Given the description of an element on the screen output the (x, y) to click on. 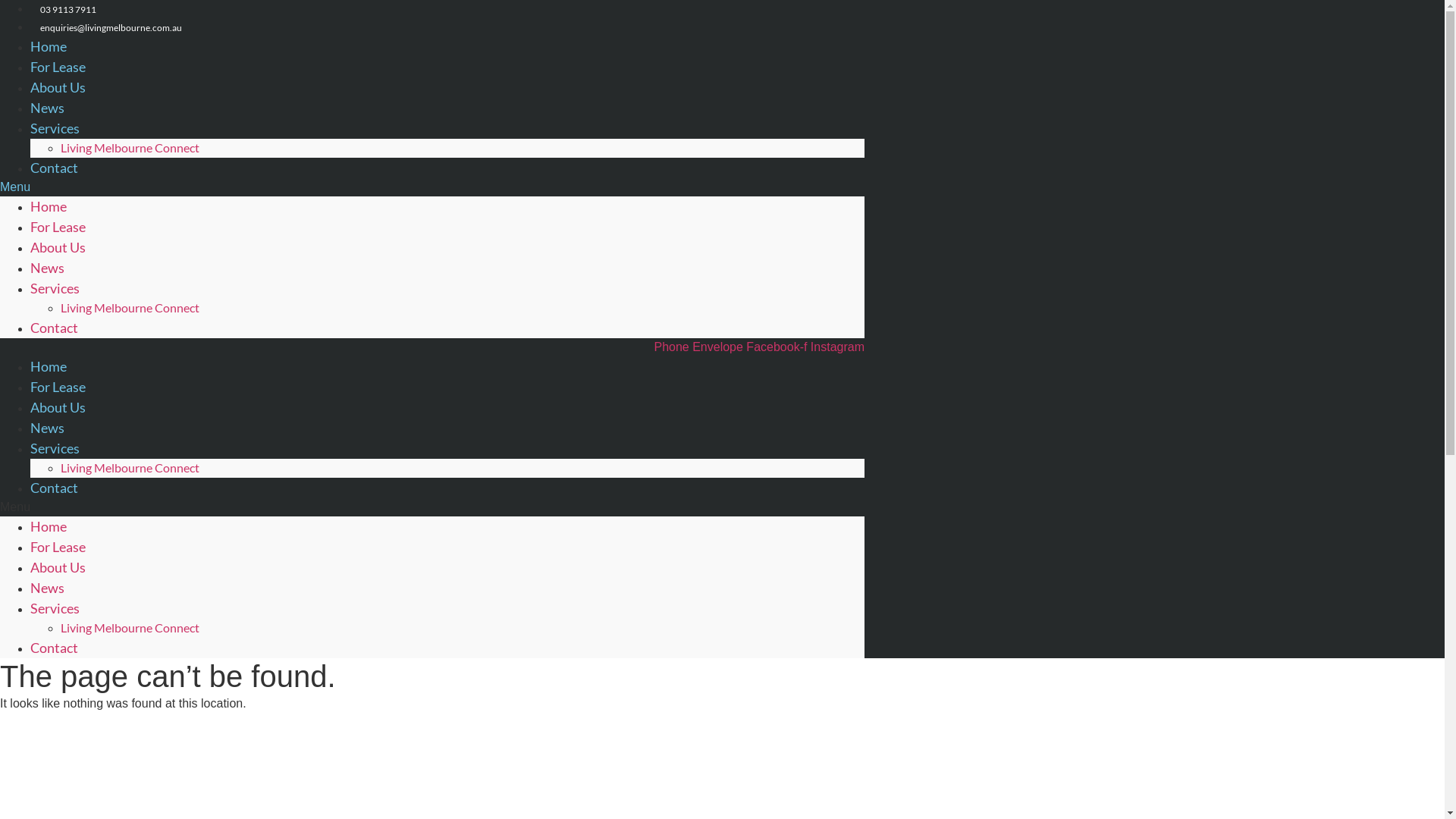
Living Melbourne Connect Element type: text (129, 467)
Living Melbourne Connect Element type: text (129, 147)
Envelope Element type: text (719, 346)
Services Element type: text (54, 127)
Home Element type: text (48, 525)
Contact Element type: text (54, 167)
03 9113 7911 Element type: text (63, 9)
Phone Element type: text (672, 346)
News Element type: text (47, 107)
Facebook-f Element type: text (778, 346)
News Element type: text (47, 427)
About Us Element type: text (57, 406)
Instagram Element type: text (837, 346)
Living Melbourne Connect Element type: text (129, 627)
Home Element type: text (48, 365)
For Lease Element type: text (57, 226)
enquiries@livingmelbourne.com.au Element type: text (106, 27)
Home Element type: text (48, 45)
About Us Element type: text (57, 86)
Services Element type: text (54, 607)
Services Element type: text (54, 287)
About Us Element type: text (57, 566)
News Element type: text (47, 587)
News Element type: text (47, 267)
Contact Element type: text (54, 647)
About Us Element type: text (57, 246)
Living Melbourne Connect Element type: text (129, 307)
For Lease Element type: text (57, 546)
For Lease Element type: text (57, 386)
Contact Element type: text (54, 327)
Contact Element type: text (54, 487)
Services Element type: text (54, 447)
For Lease Element type: text (57, 66)
Home Element type: text (48, 205)
